Given the description of an element on the screen output the (x, y) to click on. 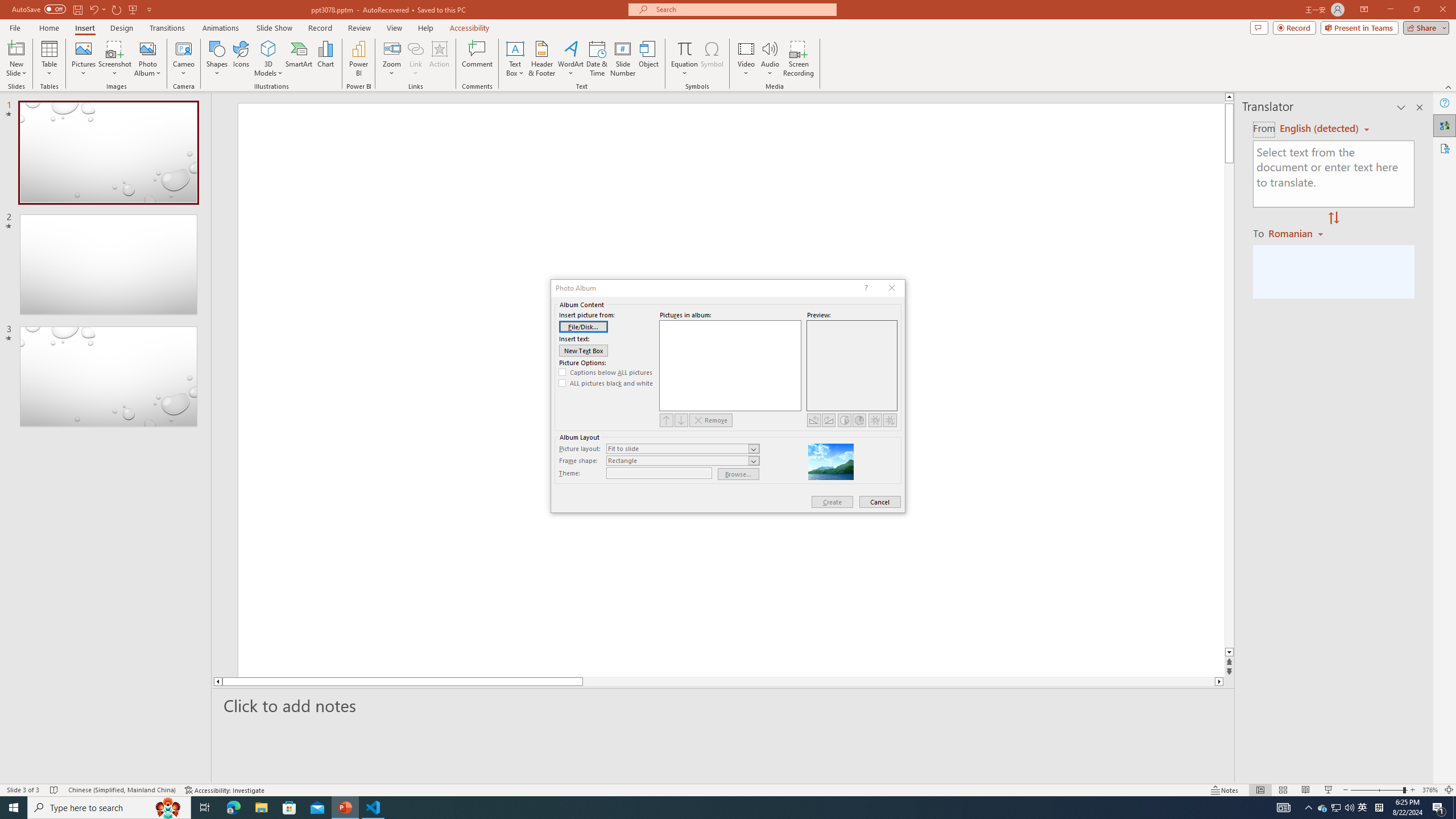
Equation (683, 48)
Cancel (880, 501)
New Photo Album... (147, 48)
Header & Footer... (541, 58)
Comment (476, 58)
File/Disk... (583, 326)
